Given the description of an element on the screen output the (x, y) to click on. 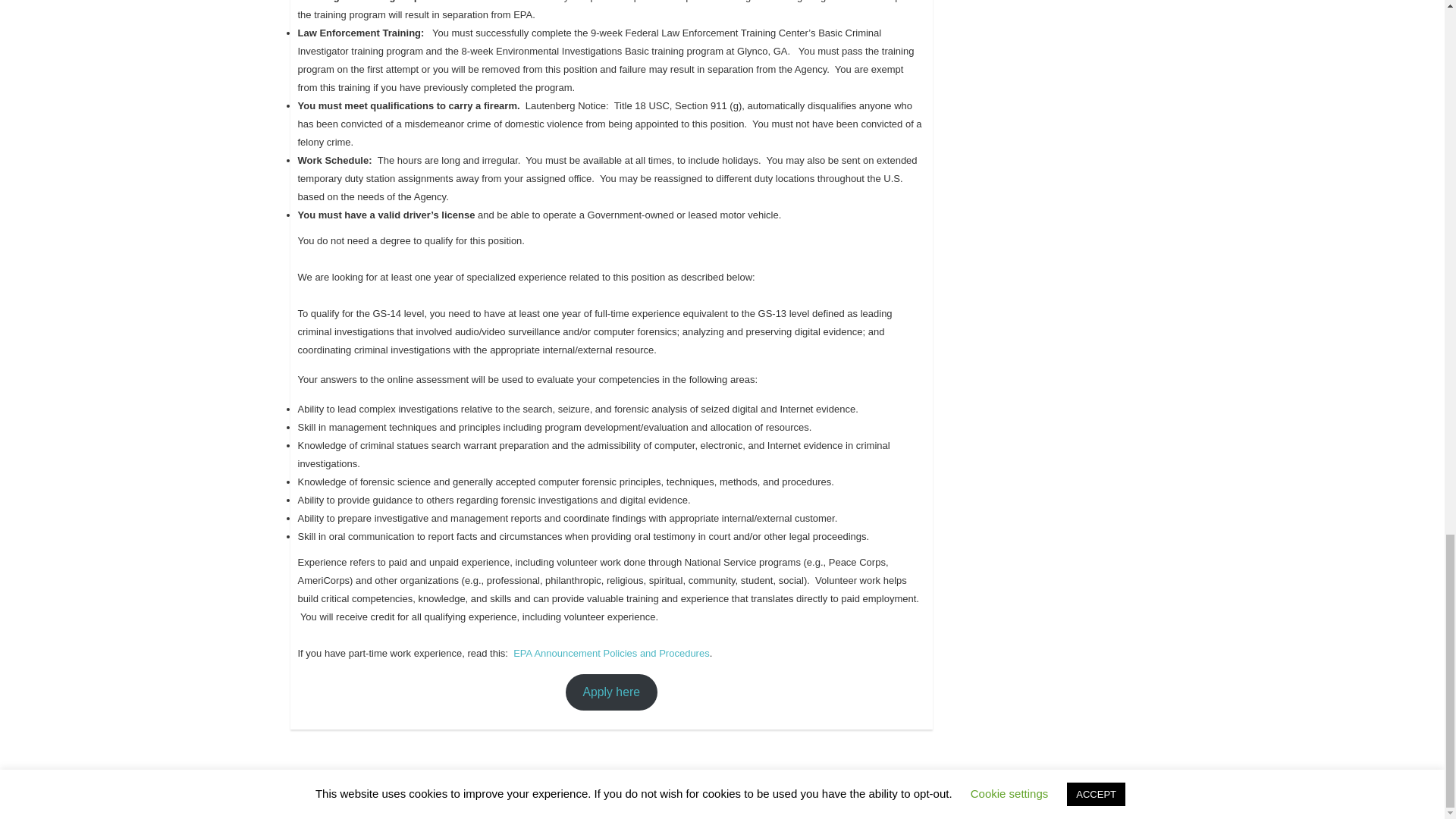
EPA Announcement Policies and Procedures (611, 653)
Apply here (612, 692)
